Given the description of an element on the screen output the (x, y) to click on. 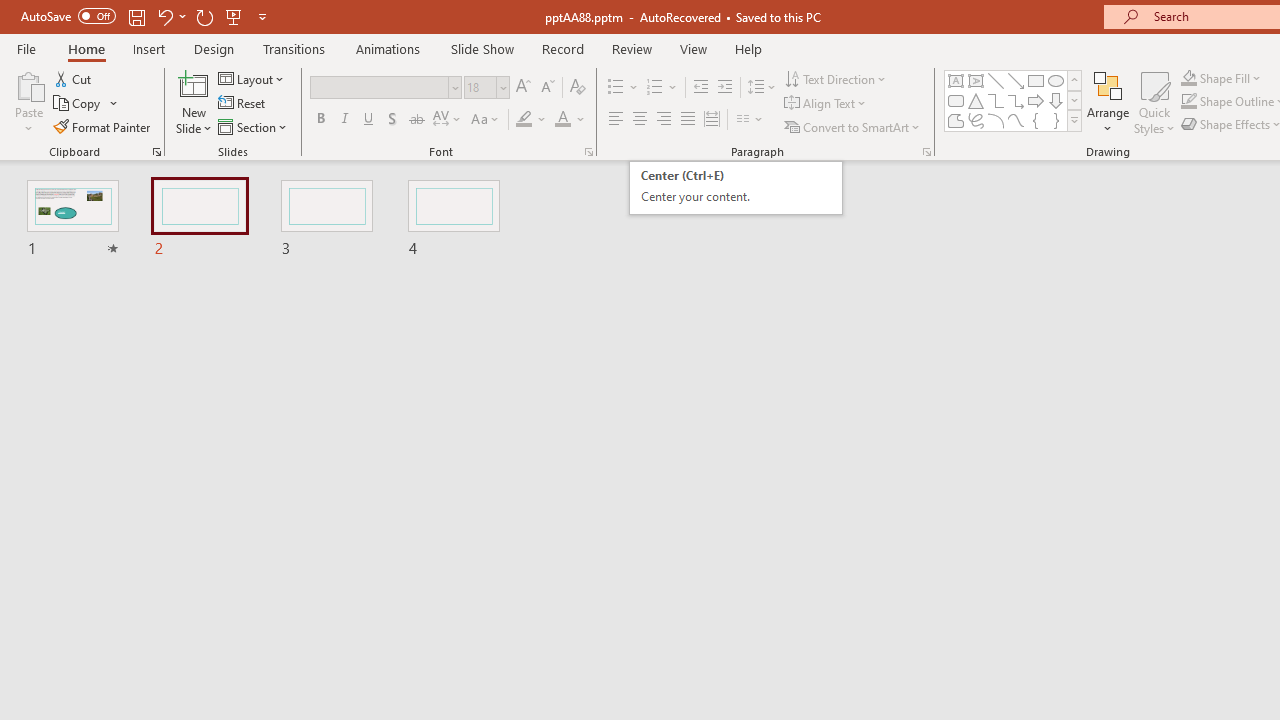
Line Spacing (762, 87)
Text Direction (836, 78)
Freeform: Scribble (735, 188)
Connector: Elbow Arrow (975, 120)
Text Box (1016, 100)
Paste (955, 80)
Underline (28, 102)
Bullets (369, 119)
Isosceles Triangle (616, 87)
Rectangle (975, 100)
Distributed (1035, 80)
AutomationID: ShapesInsertGallery (712, 119)
Bullets (1014, 100)
